Given the description of an element on the screen output the (x, y) to click on. 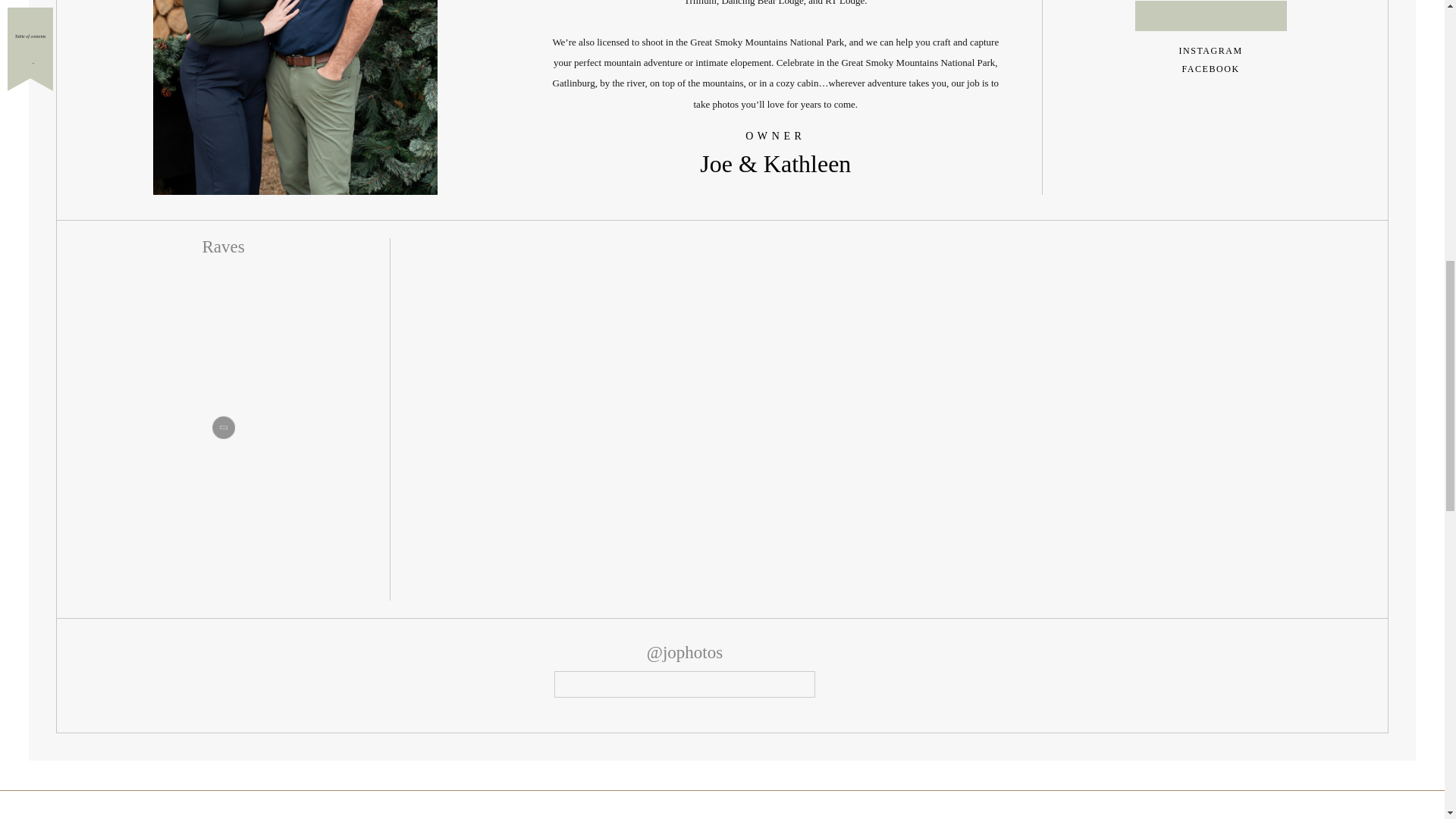
INSTAGRAM (1209, 50)
FACEBOOK (1209, 68)
FOLLOW ME ON INSTAGRAM (683, 684)
Contact Us (1210, 114)
WEBSITE (1211, 15)
